Given the description of an element on the screen output the (x, y) to click on. 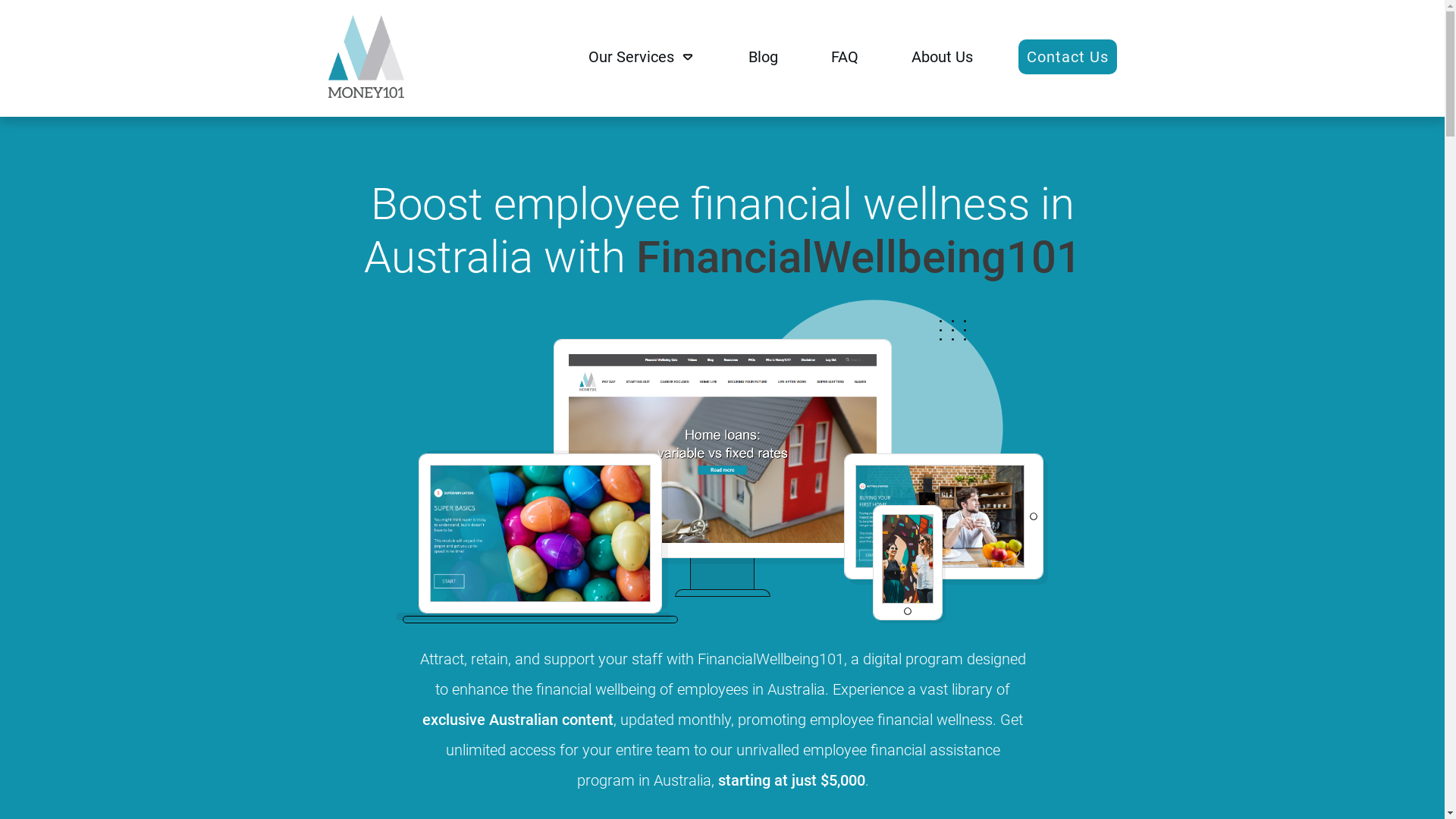
Contact Us Element type: text (1066, 56)
Our Services Element type: text (641, 56)
FAQ Element type: text (844, 56)
About Us Element type: text (941, 56)
Blog Element type: text (762, 56)
